Given the description of an element on the screen output the (x, y) to click on. 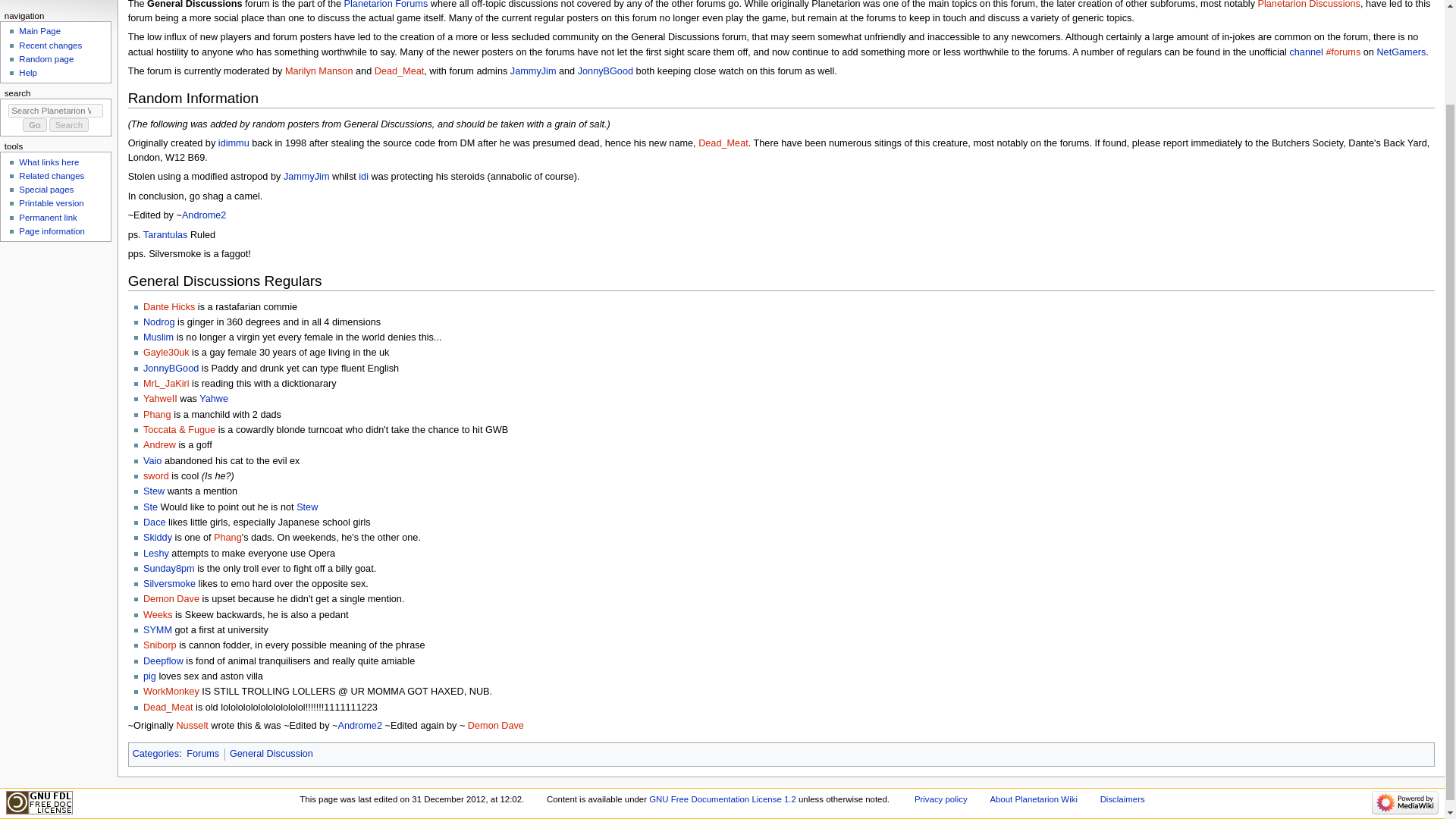
sword (155, 475)
Search (68, 124)
YahweII (159, 398)
Go (34, 124)
Tarantulas (164, 234)
Skiddy (156, 537)
Search (68, 124)
Idimmu (233, 143)
Stew (153, 491)
JammyJim (533, 71)
